Given the description of an element on the screen output the (x, y) to click on. 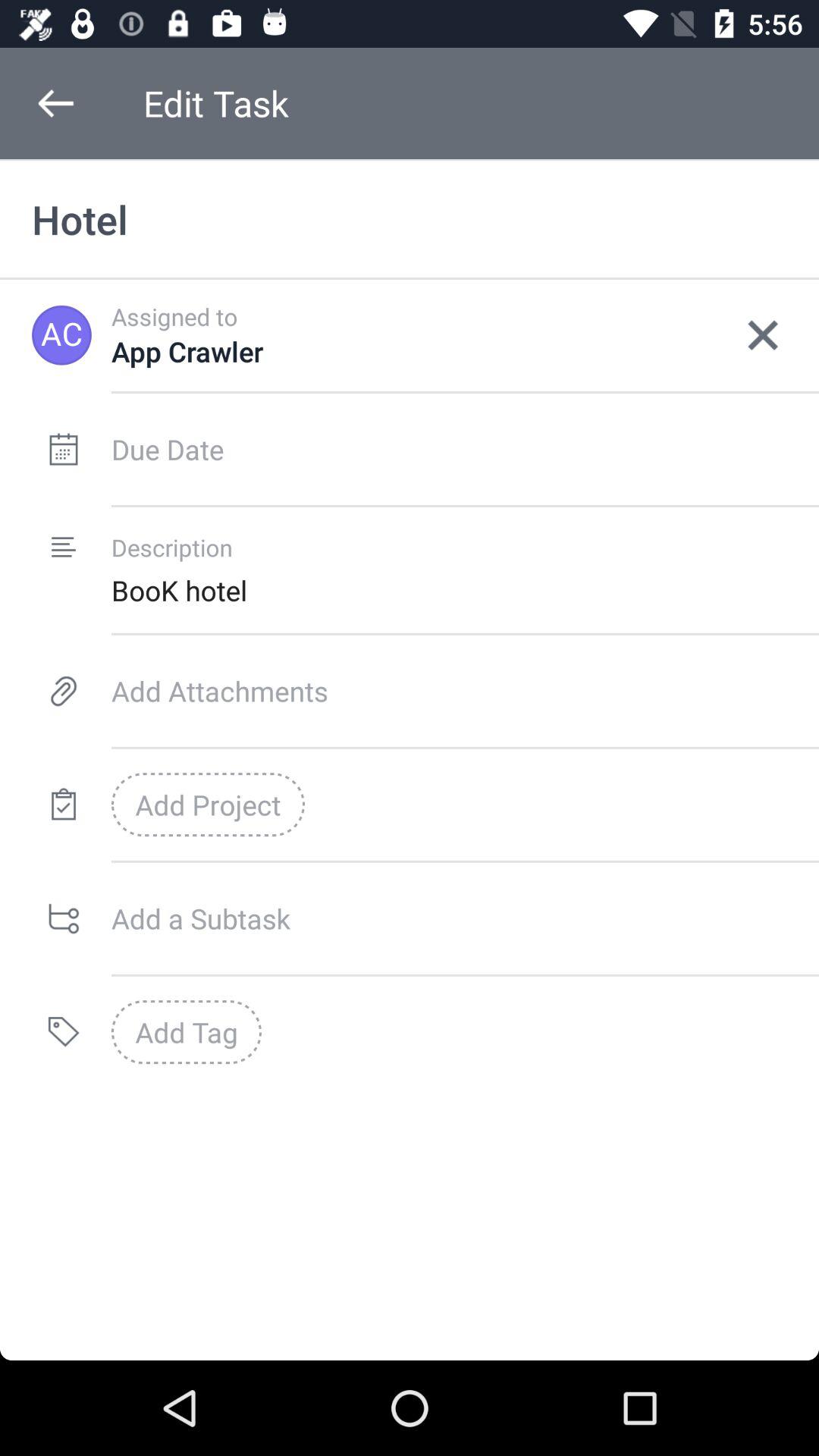
launch icon above hotel icon (55, 103)
